Given the description of an element on the screen output the (x, y) to click on. 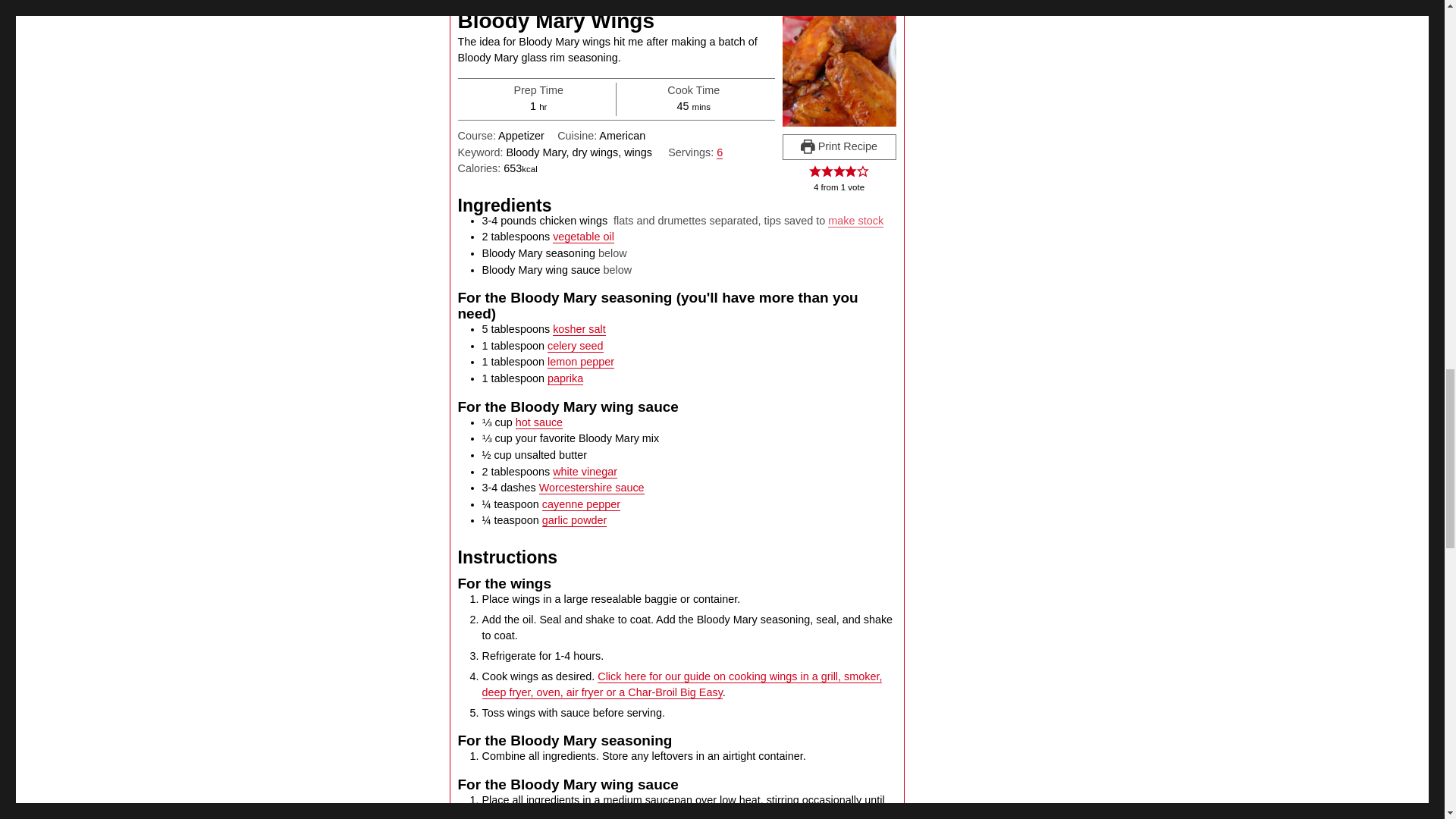
celery seed (575, 345)
make stock (855, 220)
hot sauce (538, 422)
Print Recipe (839, 146)
paprika (565, 378)
Worcestershire sauce (591, 487)
lemon pepper (580, 361)
vegetable oil (583, 236)
kosher salt (579, 328)
white vinegar (585, 471)
garlic powder (574, 520)
cayenne pepper (580, 503)
